Given the description of an element on the screen output the (x, y) to click on. 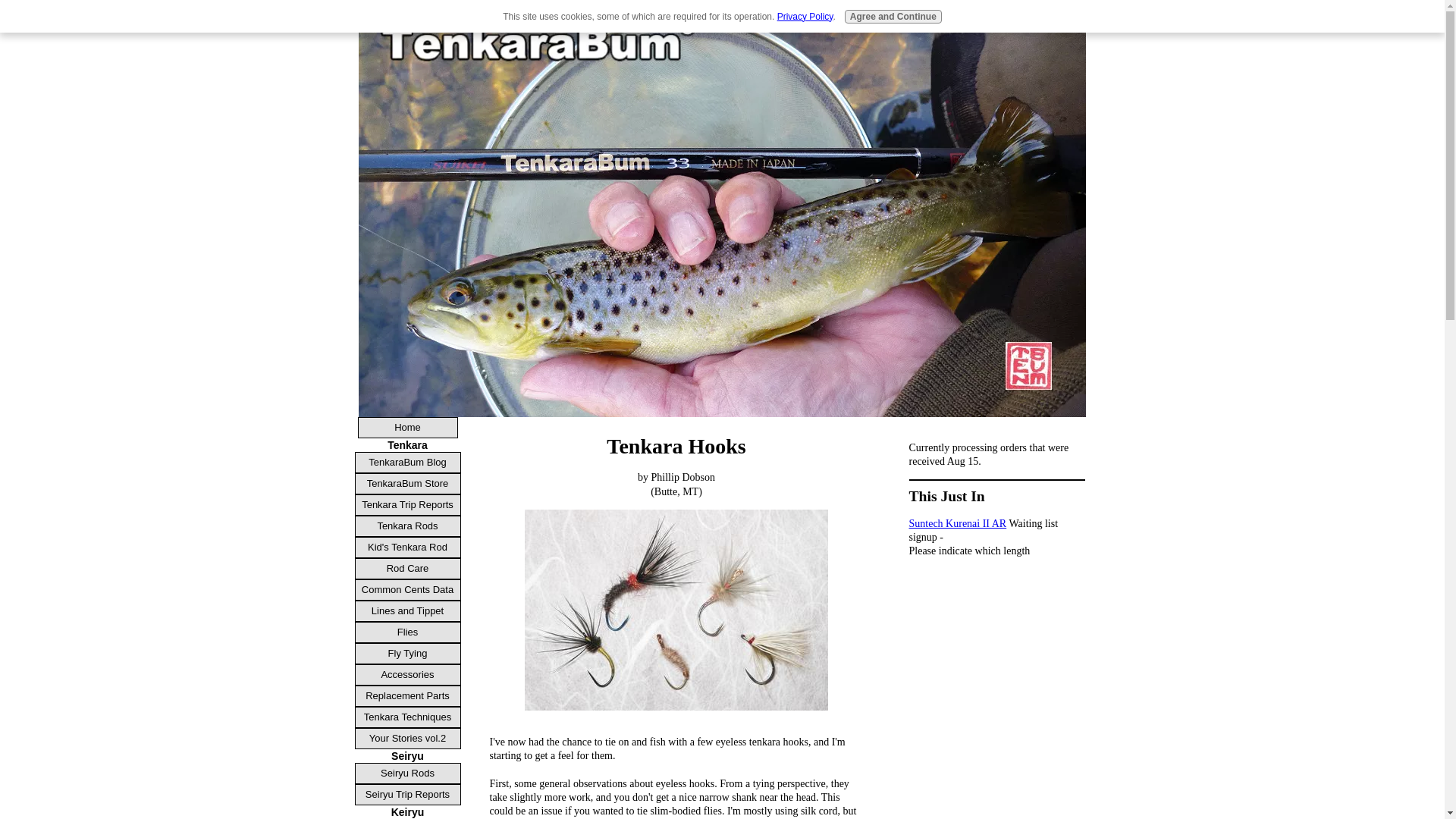
Seiryu Rods (408, 772)
Fly Tying (408, 653)
Home (408, 427)
Flies (408, 631)
Your Stories vol.2 (408, 738)
Seiryu Trip Reports (408, 794)
Tenkara Trip Reports (408, 504)
TenkaraBum Store (408, 483)
TenkaraBum Blog (408, 462)
Tenkara Rods (408, 526)
